Given the description of an element on the screen output the (x, y) to click on. 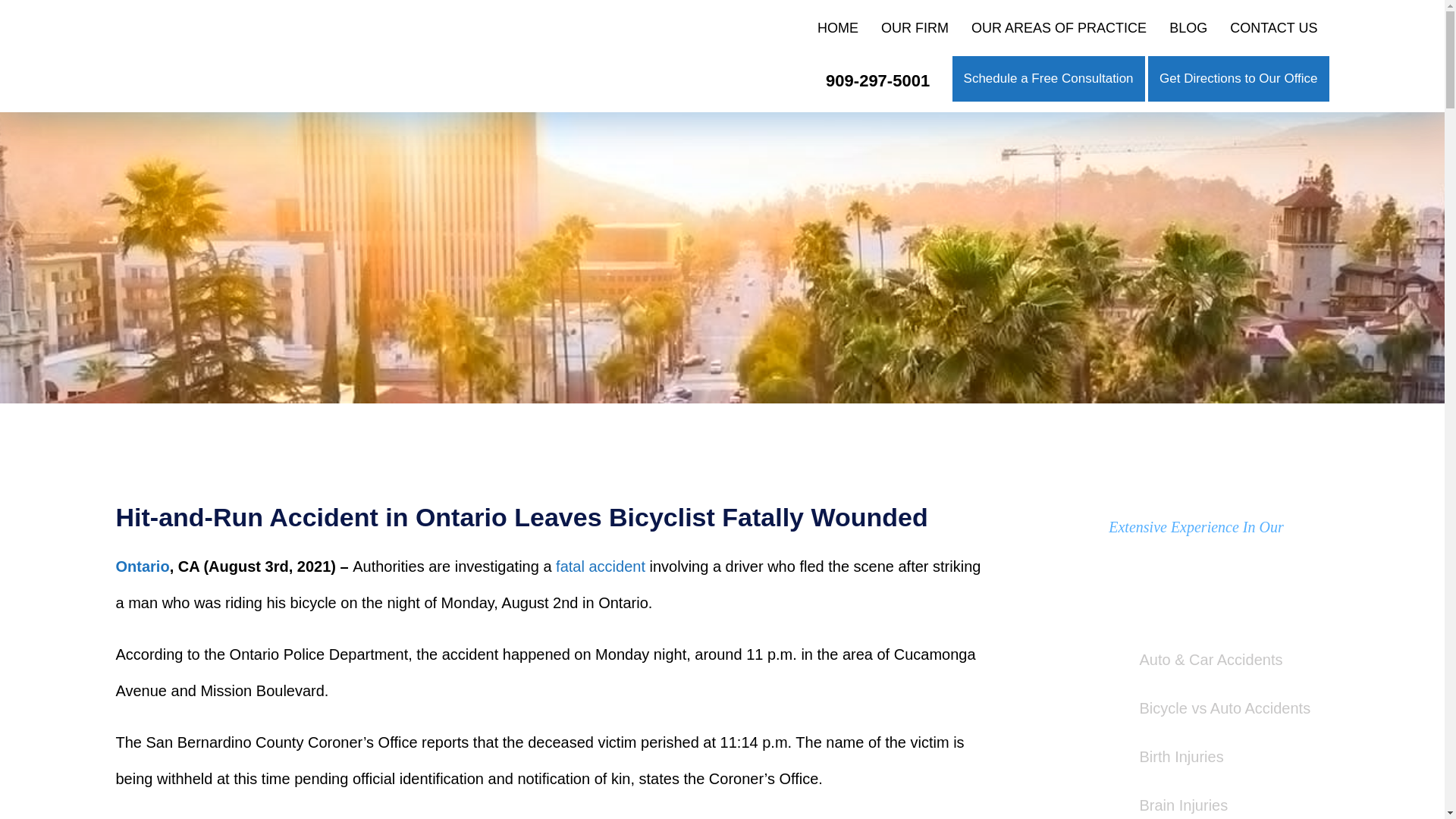
Get Directions to Our Office (1237, 78)
OUR FIRM (914, 27)
Schedule a Free Consultation (1048, 78)
CONTACT US (1272, 27)
OUR AREAS OF PRACTICE (1058, 27)
BLOG (1187, 27)
fatal accident (600, 565)
HOME (837, 27)
Ontario (141, 565)
909-297-5001 (876, 81)
